Given the description of an element on the screen output the (x, y) to click on. 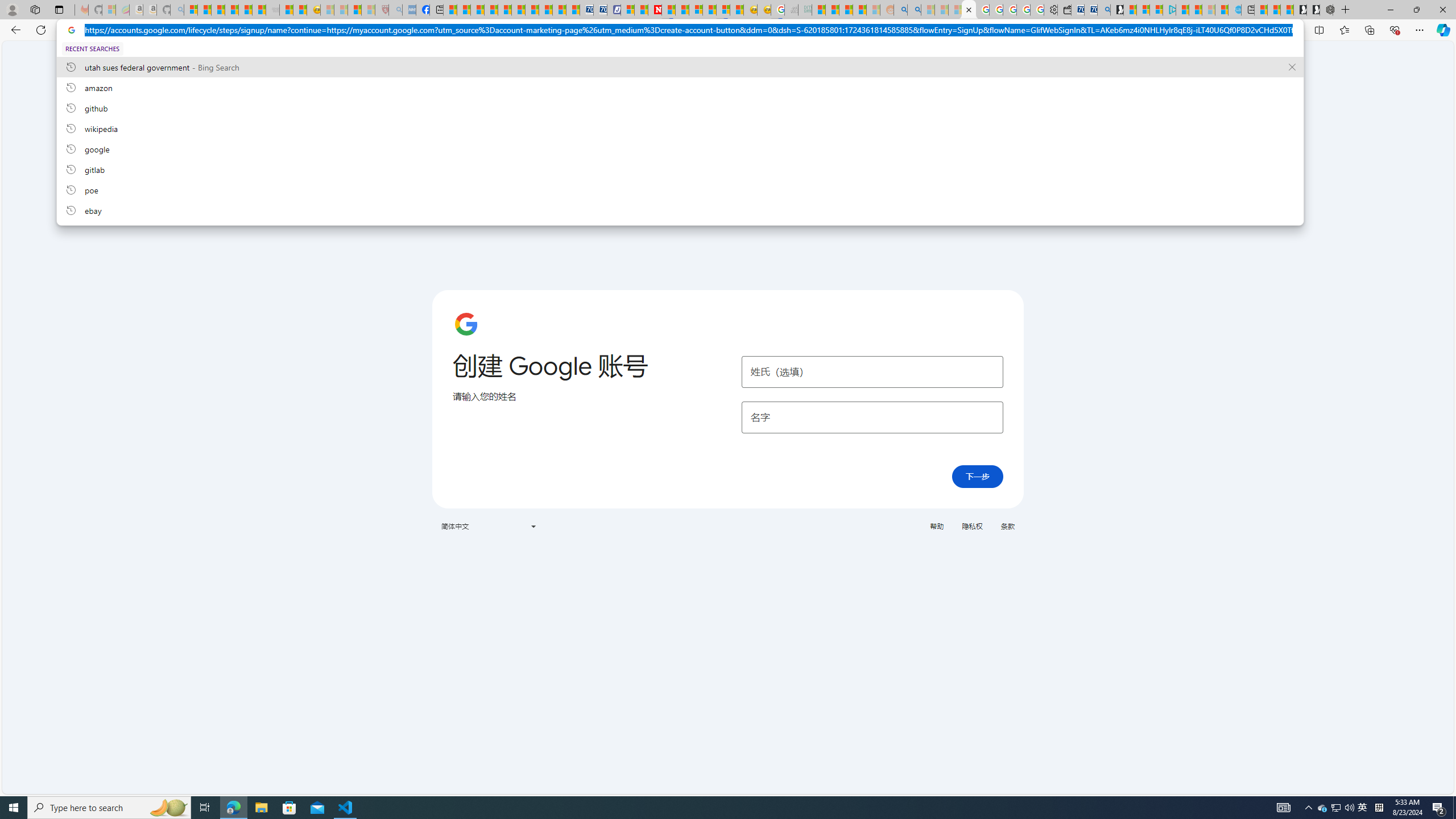
Remove suggestion (1291, 66)
